Given the description of an element on the screen output the (x, y) to click on. 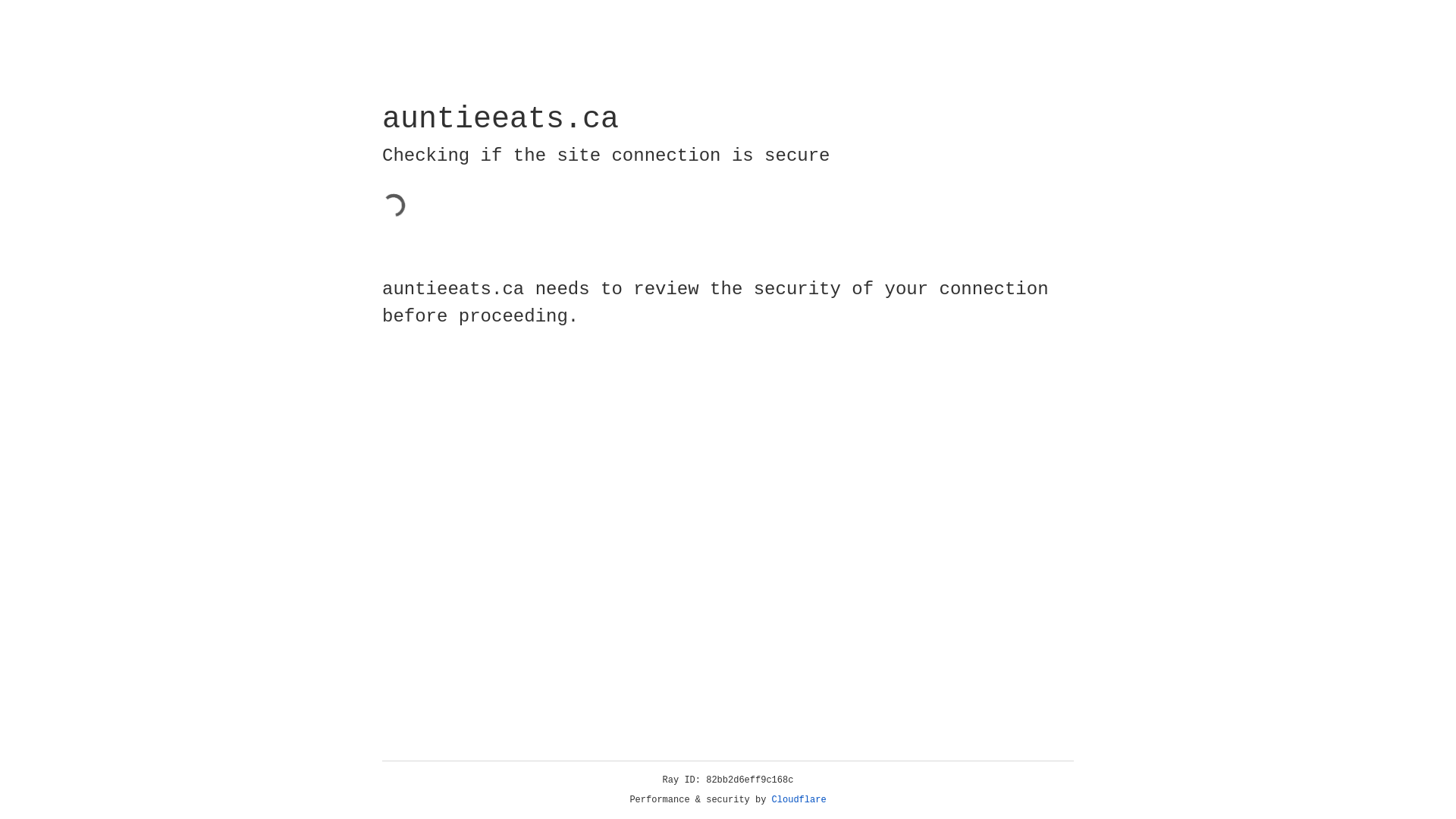
Cloudflare Element type: text (798, 799)
